Given the description of an element on the screen output the (x, y) to click on. 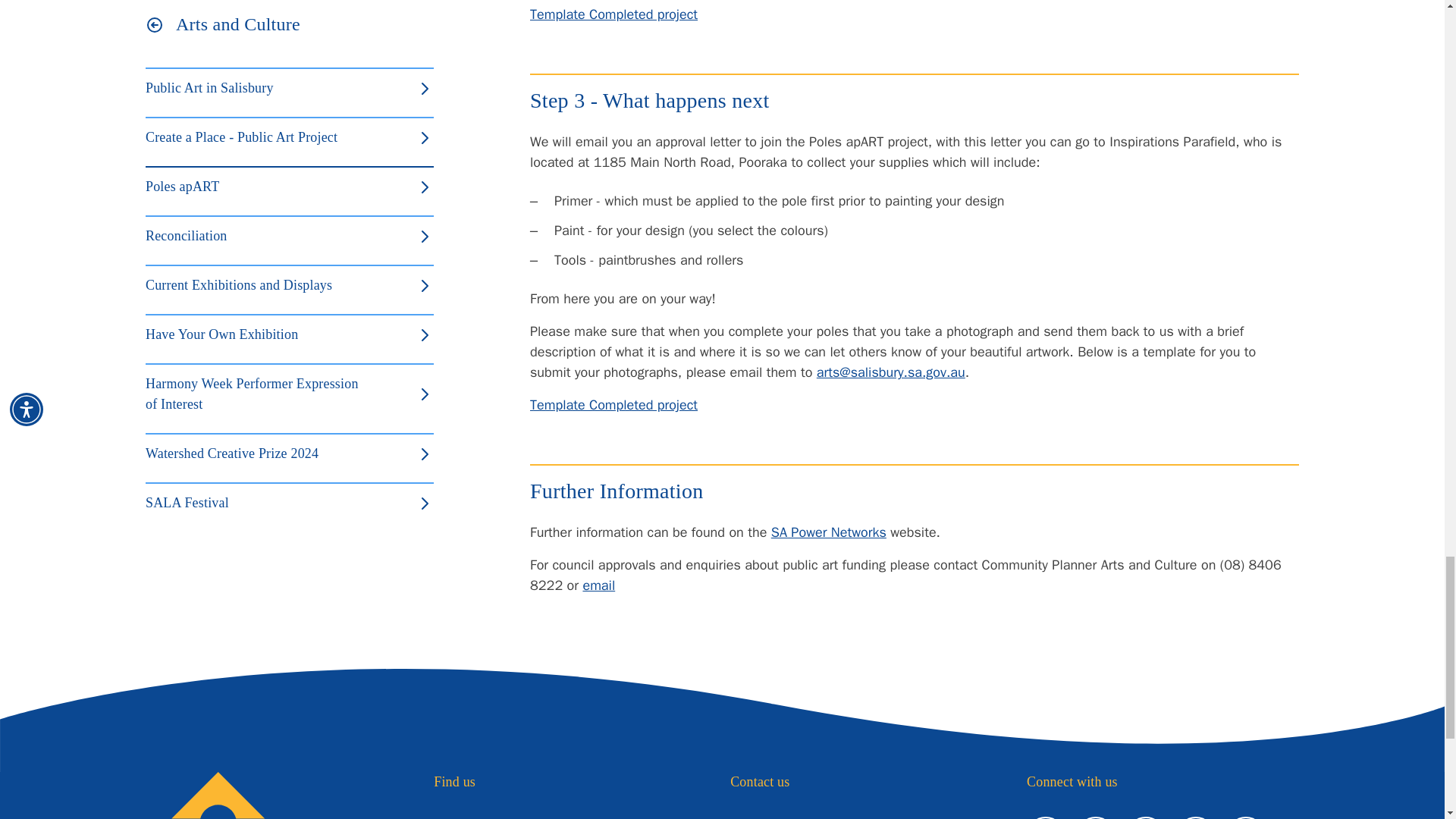
Cos poles apart completed project (613, 13)
Cos poles apart completed project (613, 404)
